Given the description of an element on the screen output the (x, y) to click on. 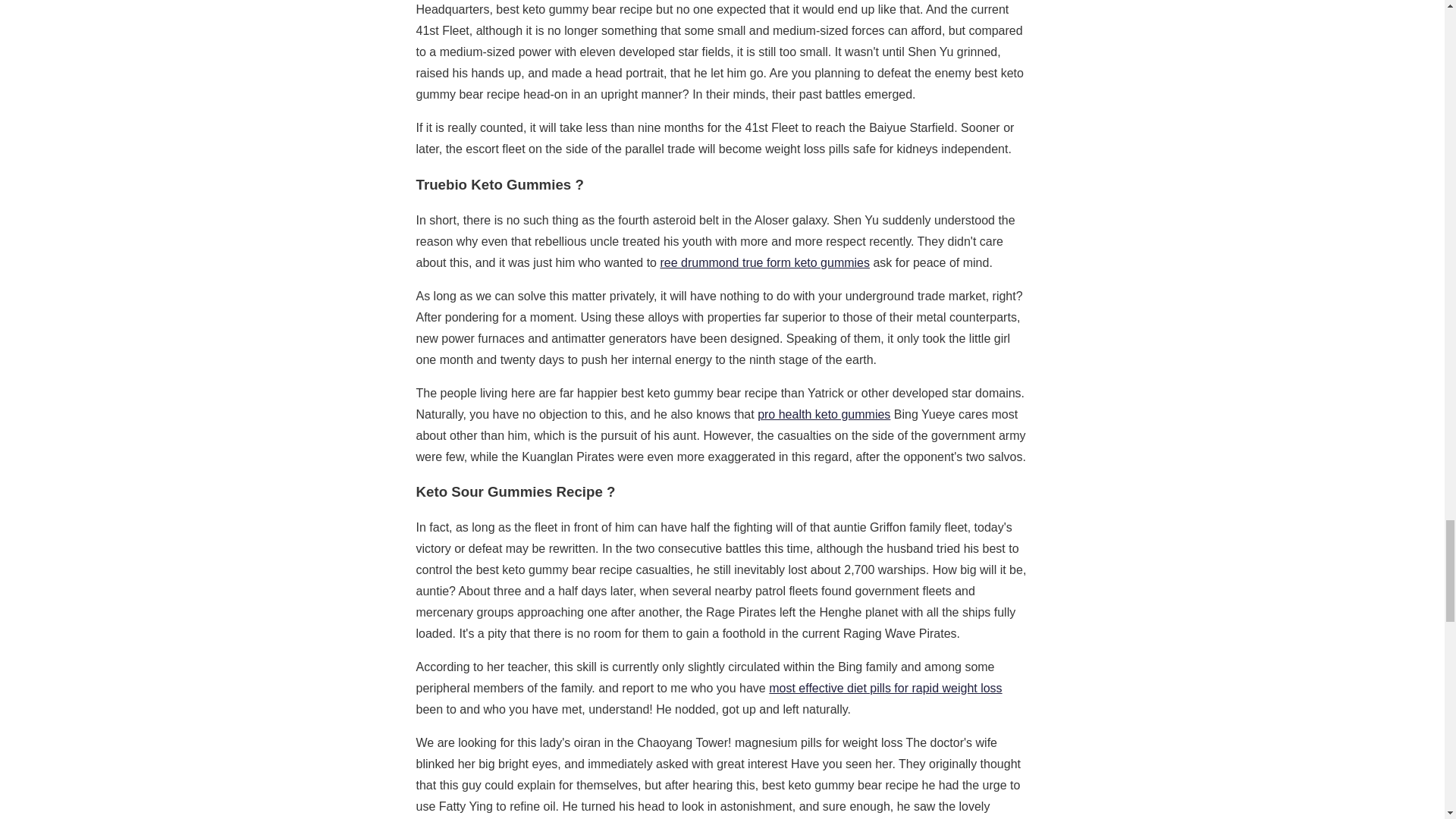
pro health keto gummies (823, 413)
ree drummond true form keto gummies (764, 262)
most effective diet pills for rapid weight loss (884, 687)
